Given the description of an element on the screen output the (x, y) to click on. 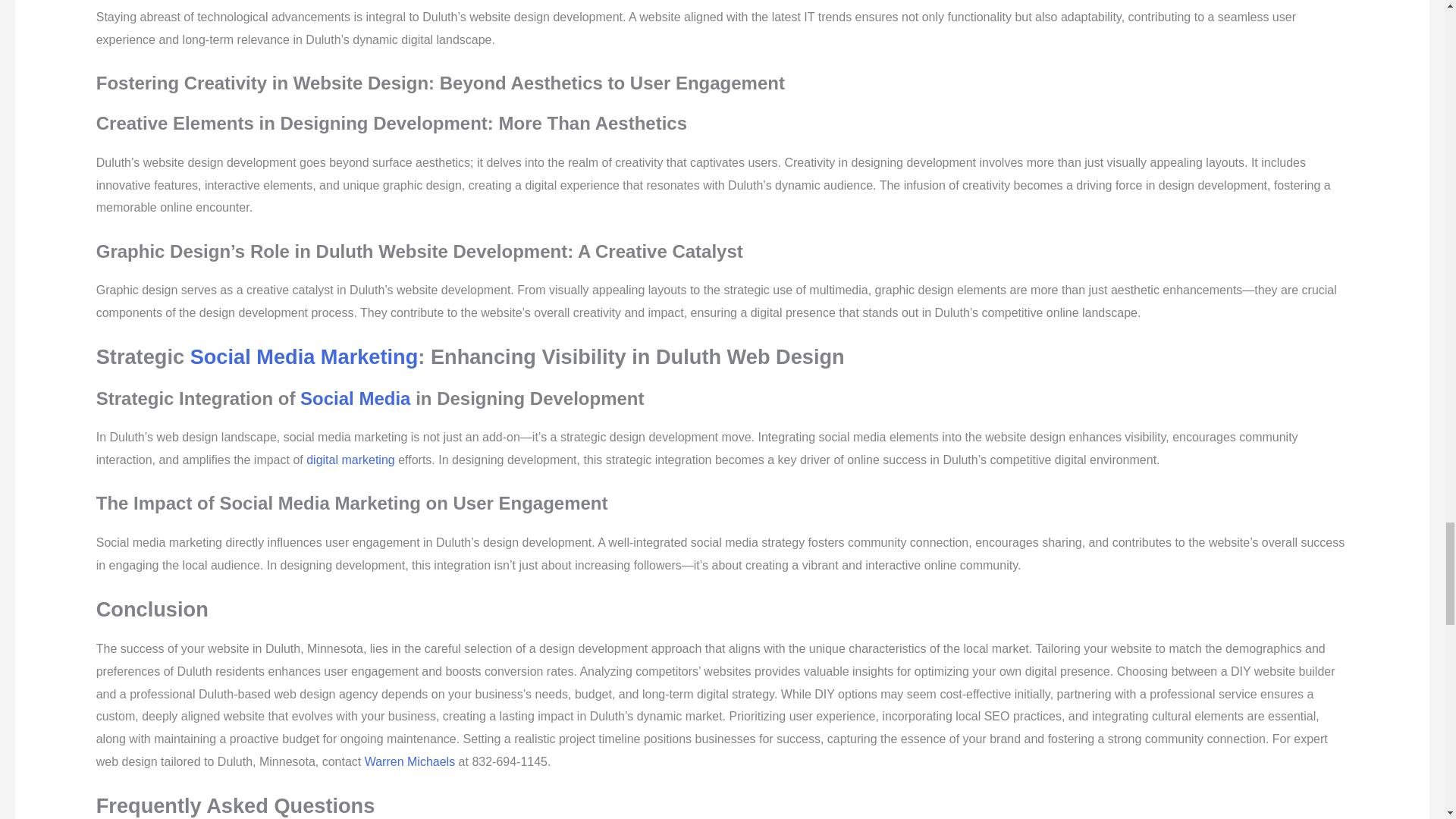
Social Media (354, 398)
Warren Michaels (409, 761)
digital marketing (349, 459)
Social Media Marketing (304, 356)
